Given the description of an element on the screen output the (x, y) to click on. 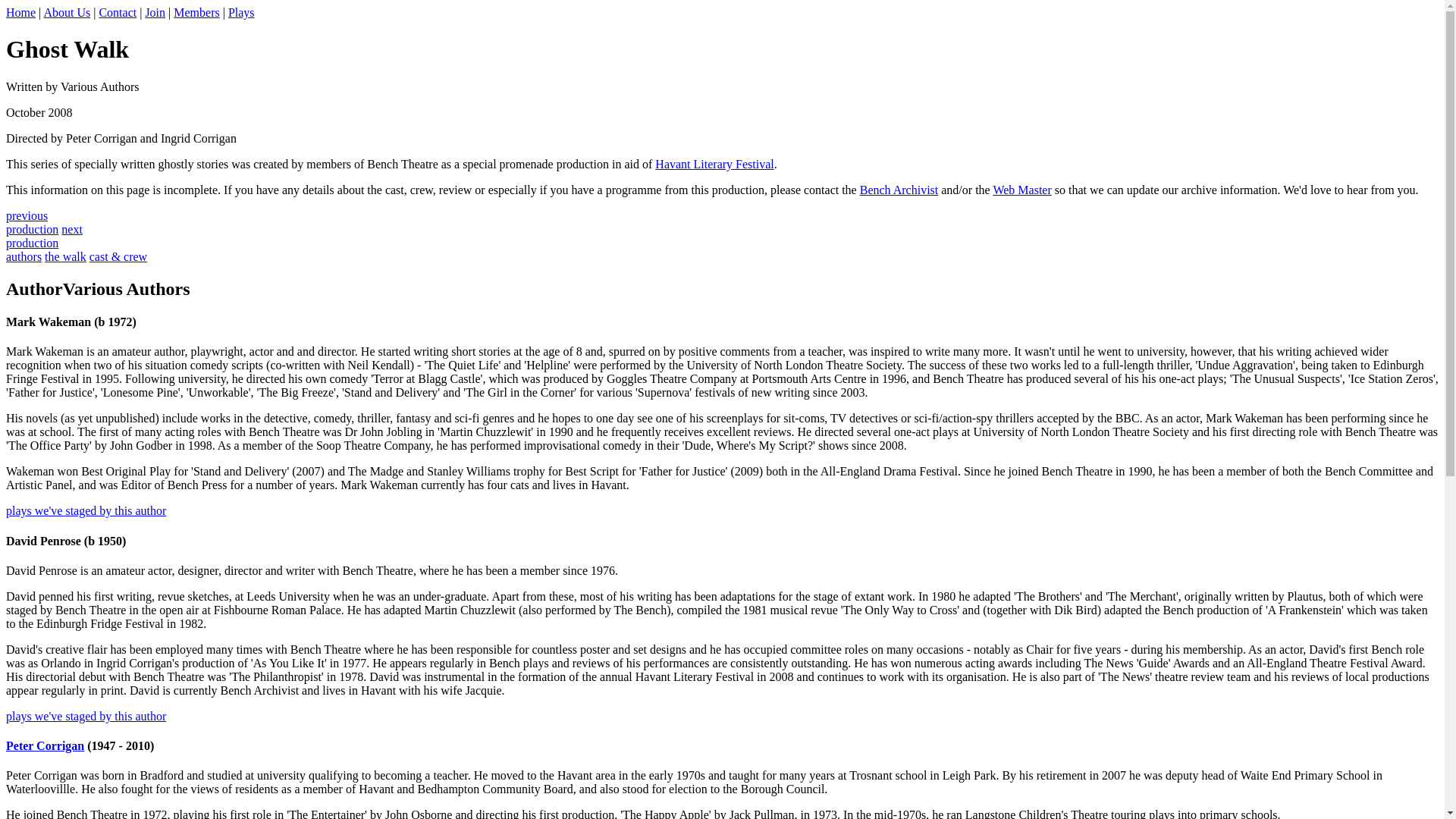
About Us (66, 11)
Peter Corrigan (44, 745)
Home (19, 11)
Join (154, 11)
authors (23, 256)
the walk (65, 256)
Havant Literary Festival (714, 164)
plays we've staged by this author (85, 510)
Members (196, 11)
Author (33, 288)
Plays (241, 11)
Web Master (1021, 189)
plays we've staged by this author (85, 716)
Contact (43, 235)
